Given the description of an element on the screen output the (x, y) to click on. 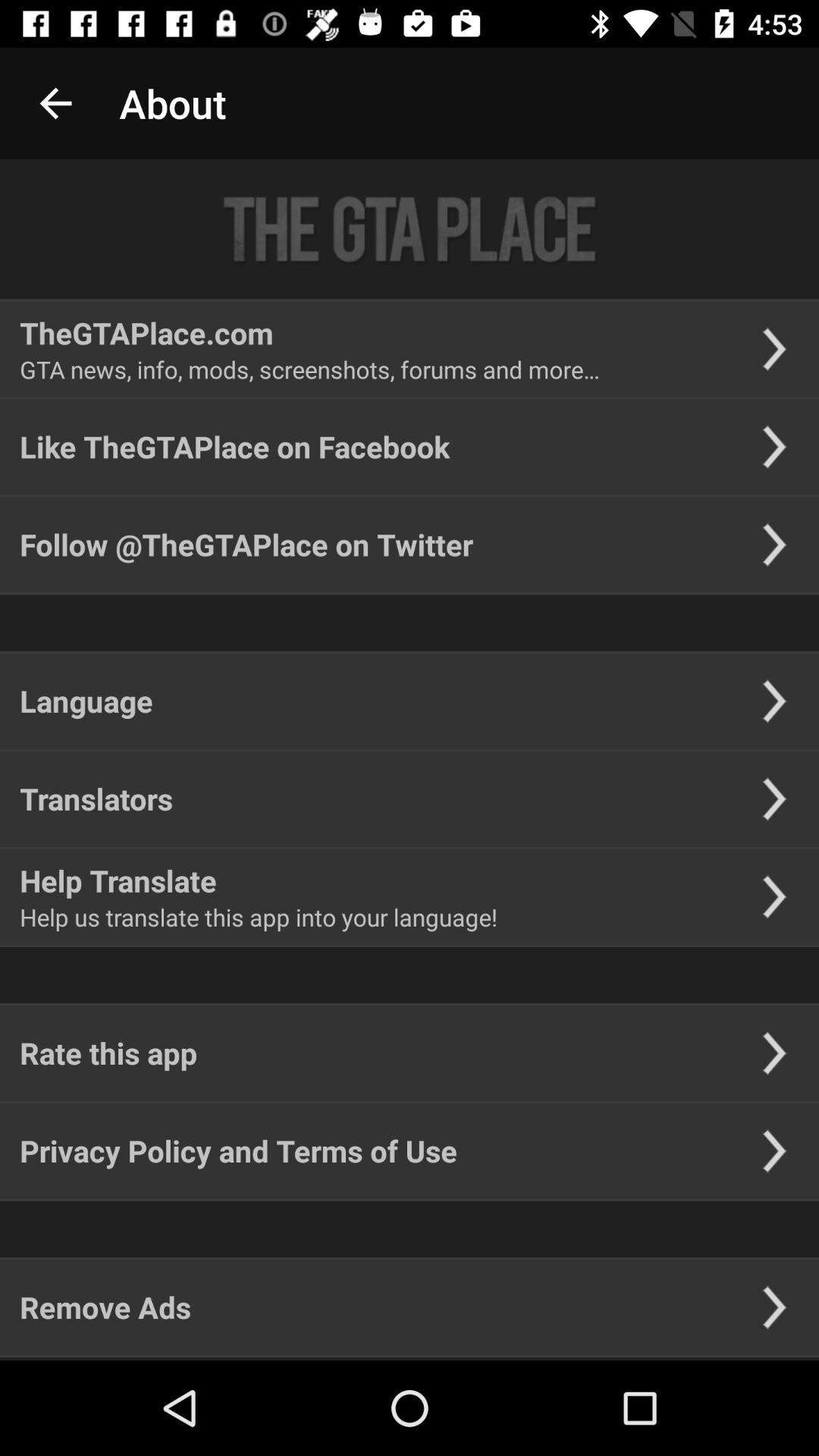
press thegtaplace.com item (146, 332)
